Given the description of an element on the screen output the (x, y) to click on. 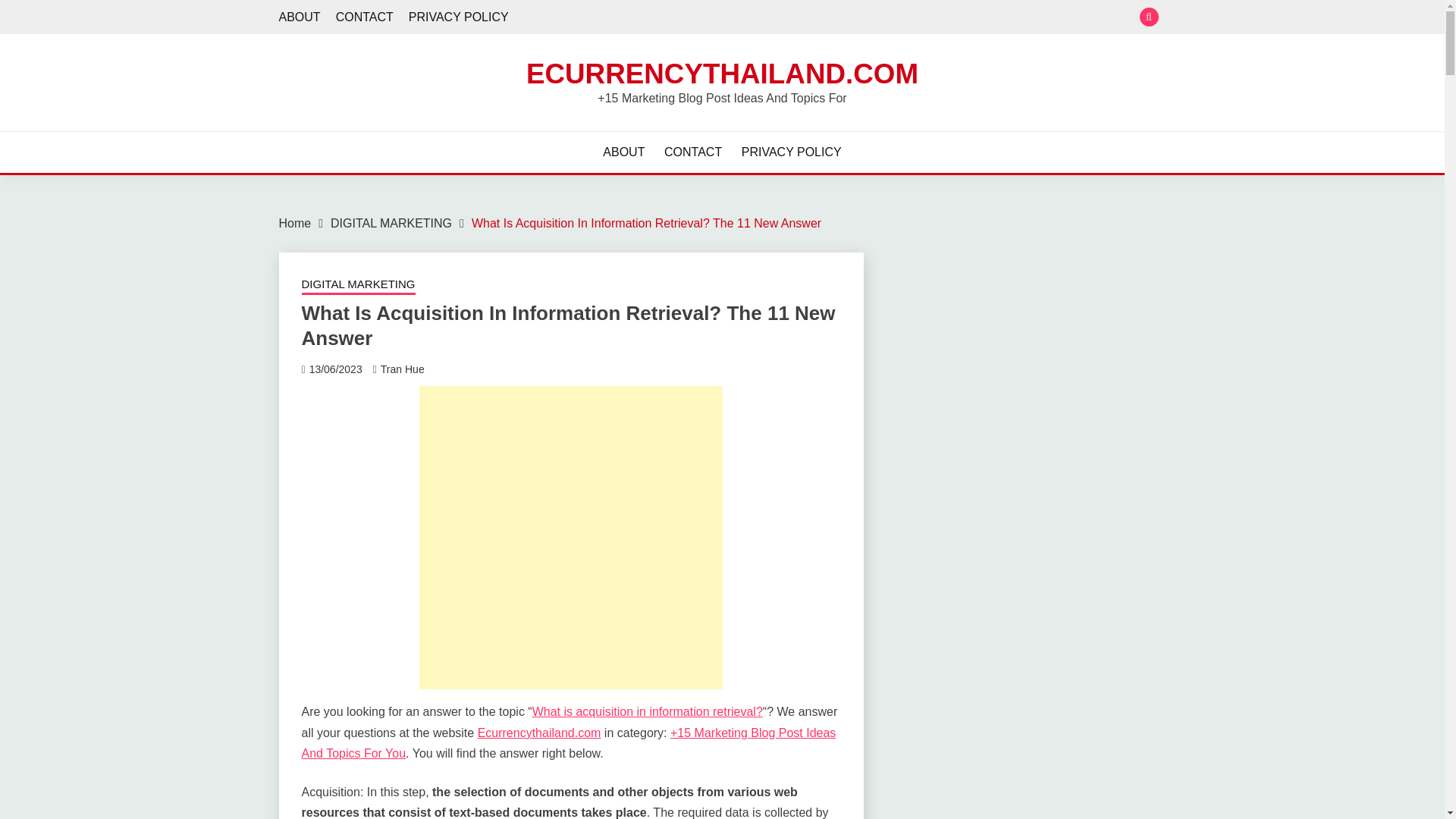
CONTACT (692, 152)
DIGITAL MARKETING (390, 223)
ECURRENCYTHAILAND.COM (721, 73)
What is acquisition in information retrieval? (647, 711)
CONTACT (364, 16)
ABOUT (623, 152)
DIGITAL MARKETING (357, 285)
Home (295, 223)
Tran Hue (402, 369)
